Given the description of an element on the screen output the (x, y) to click on. 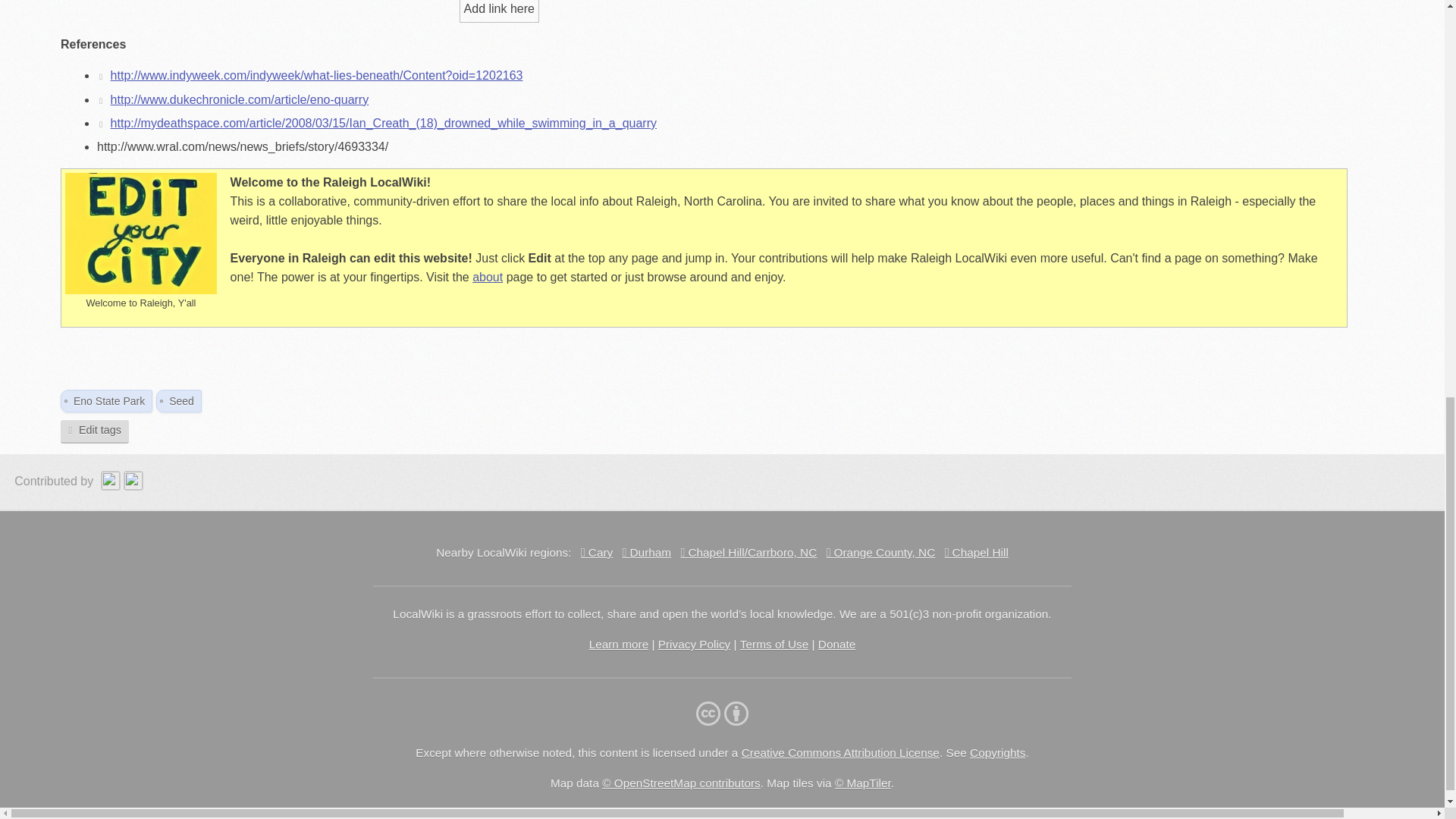
marimonster (135, 481)
Eno State Park (109, 400)
ReidSerozi (111, 481)
about (486, 277)
Seed (180, 400)
Edit tags (95, 431)
